Given the description of an element on the screen output the (x, y) to click on. 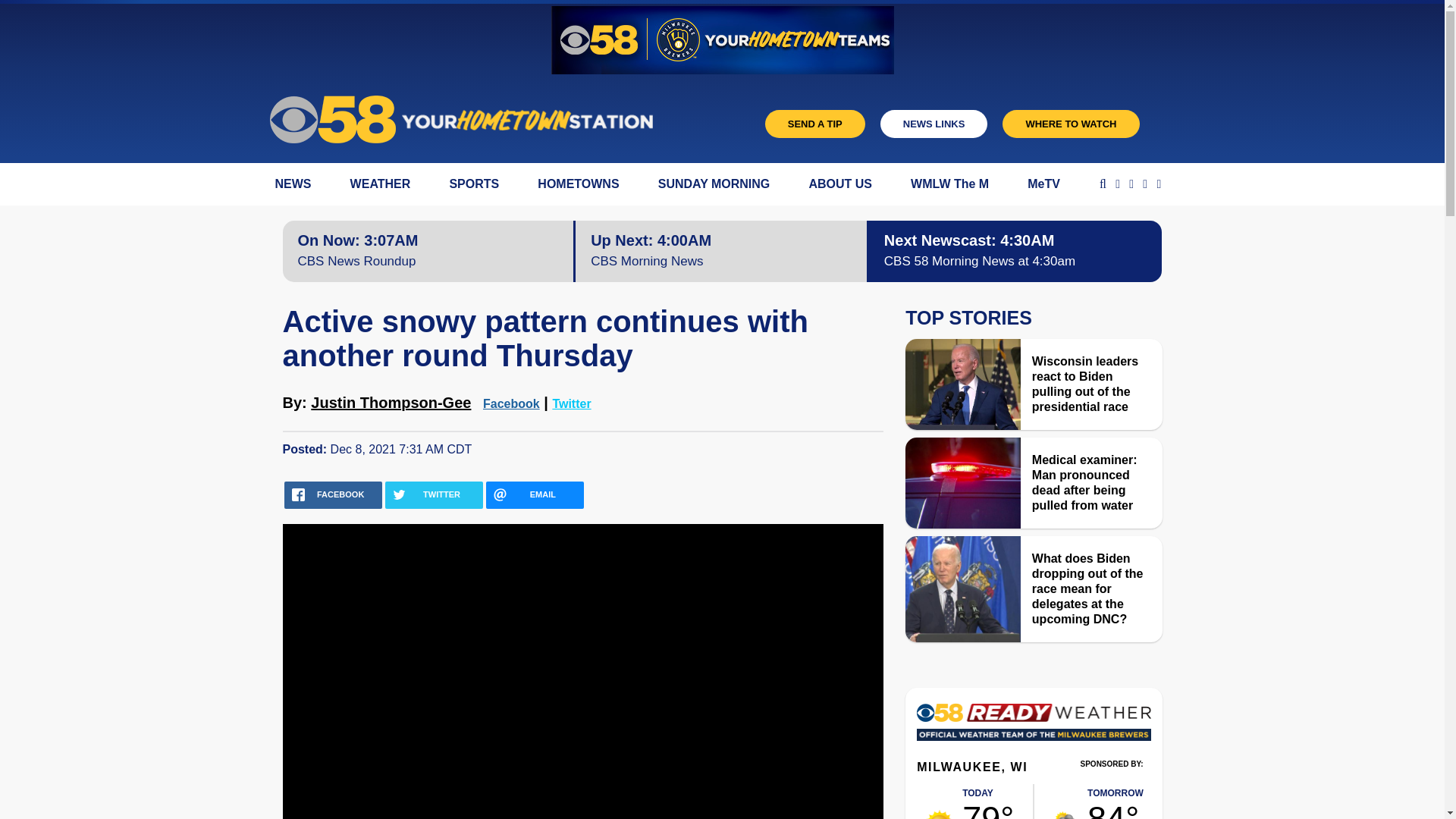
weather (939, 814)
Weather (1033, 726)
weather (989, 801)
weather (1066, 815)
weather (1118, 801)
